Given the description of an element on the screen output the (x, y) to click on. 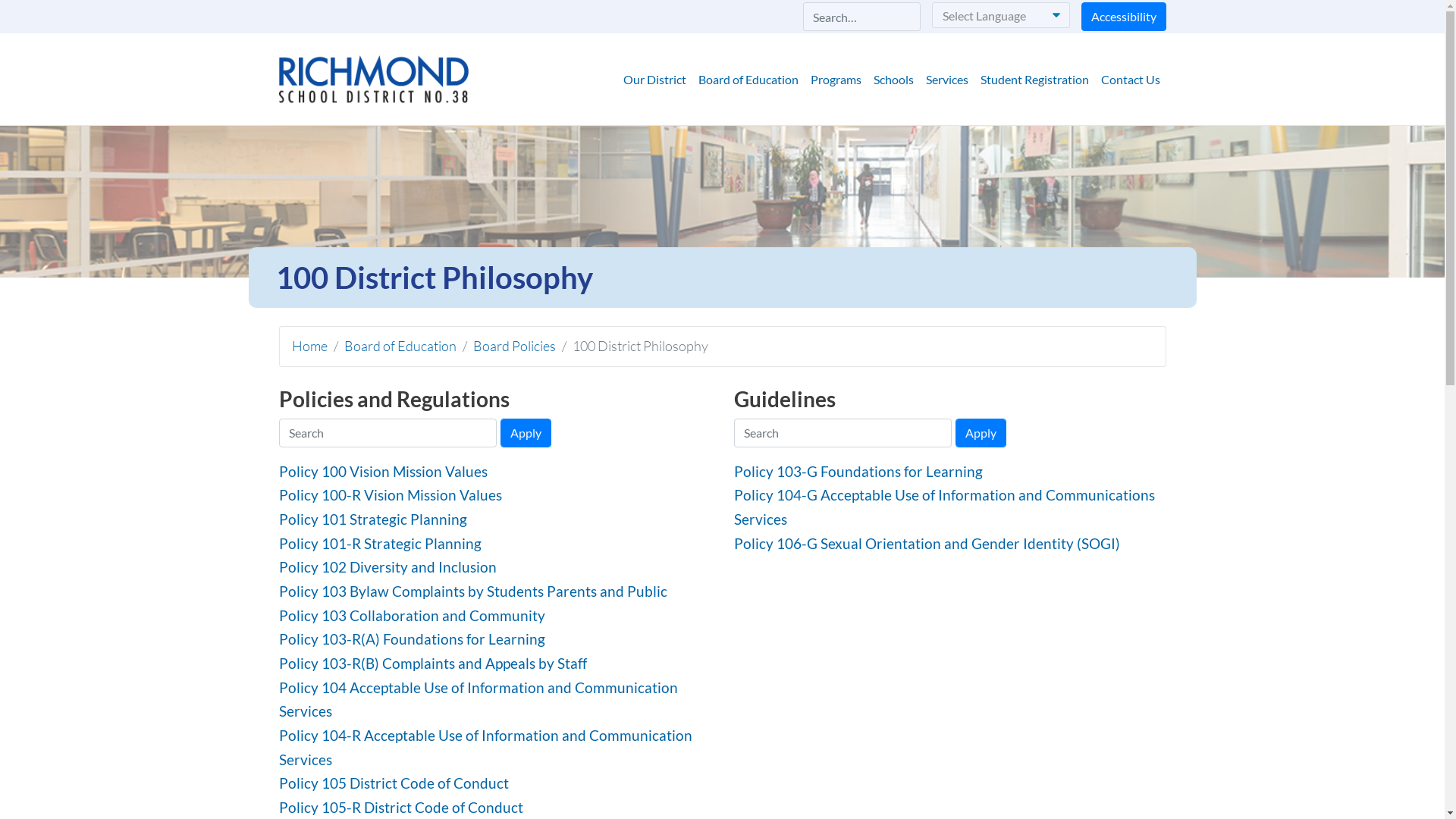
Board of Education Element type: text (400, 345)
Search Element type: text (113, 14)
Policy 100-R Vision Mission Values Element type: text (390, 494)
Policy 105 District Code of Conduct Element type: text (393, 782)
Policy 100 Vision Mission Values Element type: text (383, 471)
Home Element type: text (308, 345)
Accessibility Element type: text (1123, 16)
Policy 105-R District Code of Conduct Element type: text (401, 806)
Services Element type: text (946, 79)
Skip to main content Element type: text (721, 1)
Policy 102 Diversity and Inclusion Element type: text (387, 566)
Policy 103 Bylaw Complaints by Students Parents and Public Element type: text (473, 590)
Policy 103-R(B) Complaints and Appeals by Staff Element type: text (432, 662)
Student Registration Element type: text (1033, 79)
Apply Element type: text (525, 432)
Policy 103 Collaboration and Community Element type: text (412, 615)
Programs Element type: text (834, 79)
Policy 103-G Foundations for Learning Element type: text (858, 471)
Policy 101 Strategic Planning Element type: text (373, 518)
Policy 106-G Sexual Orientation and Gender Identity (SOGI) Element type: text (927, 543)
Search Element type: text (443, 14)
Policy 103-R(A) Foundations for Learning Element type: text (412, 638)
Apply Element type: text (980, 432)
Schools Element type: text (893, 79)
Policy 101-R Strategic Planning Element type: text (380, 543)
Our District Element type: text (654, 79)
Board of Education Element type: text (747, 79)
Board Policies Element type: text (514, 345)
Home Element type: hover (373, 79)
Contact Us Element type: text (1130, 79)
